Given the description of an element on the screen output the (x, y) to click on. 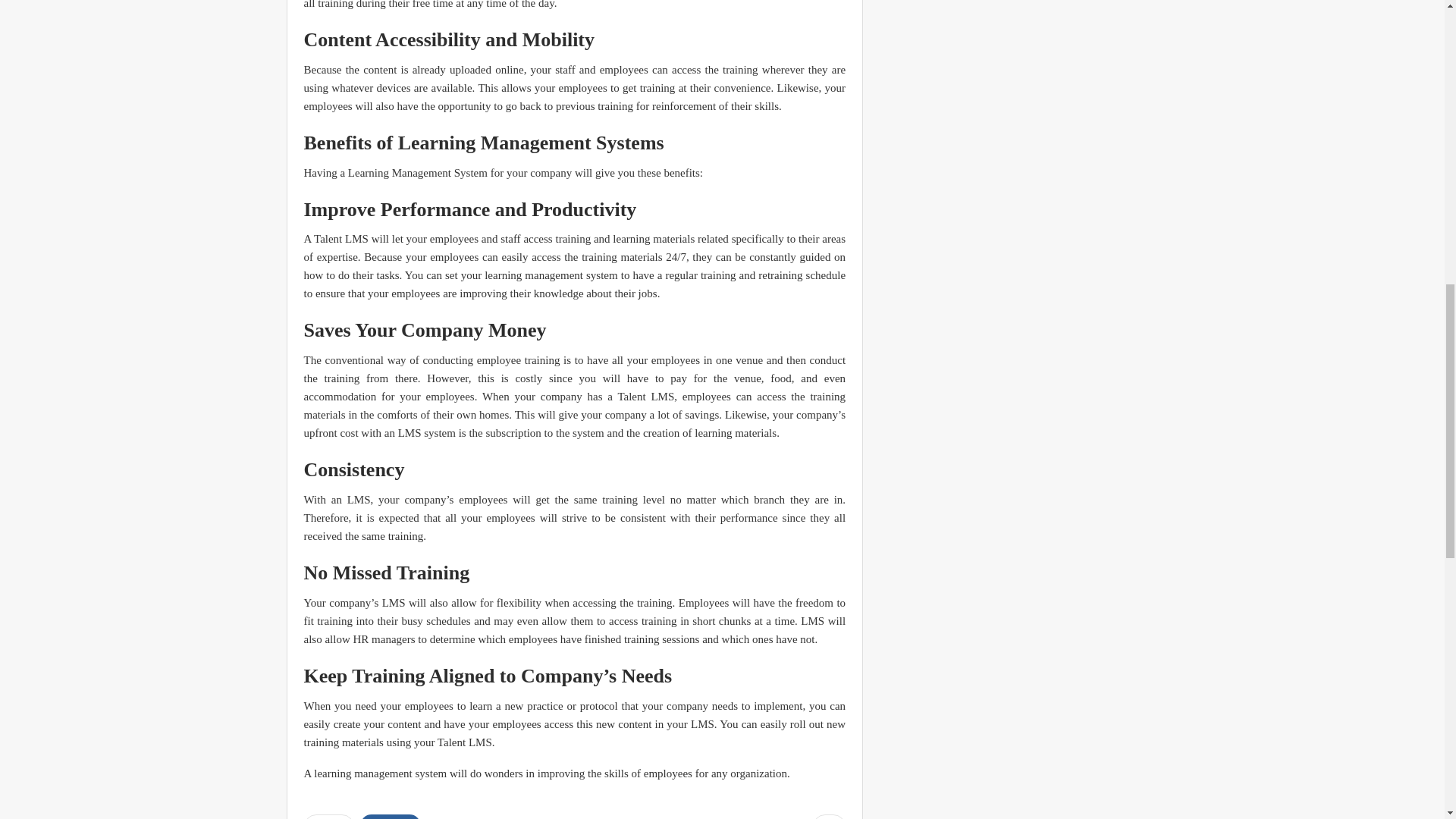
0 (828, 816)
Facebook (390, 816)
